Given the description of an element on the screen output the (x, y) to click on. 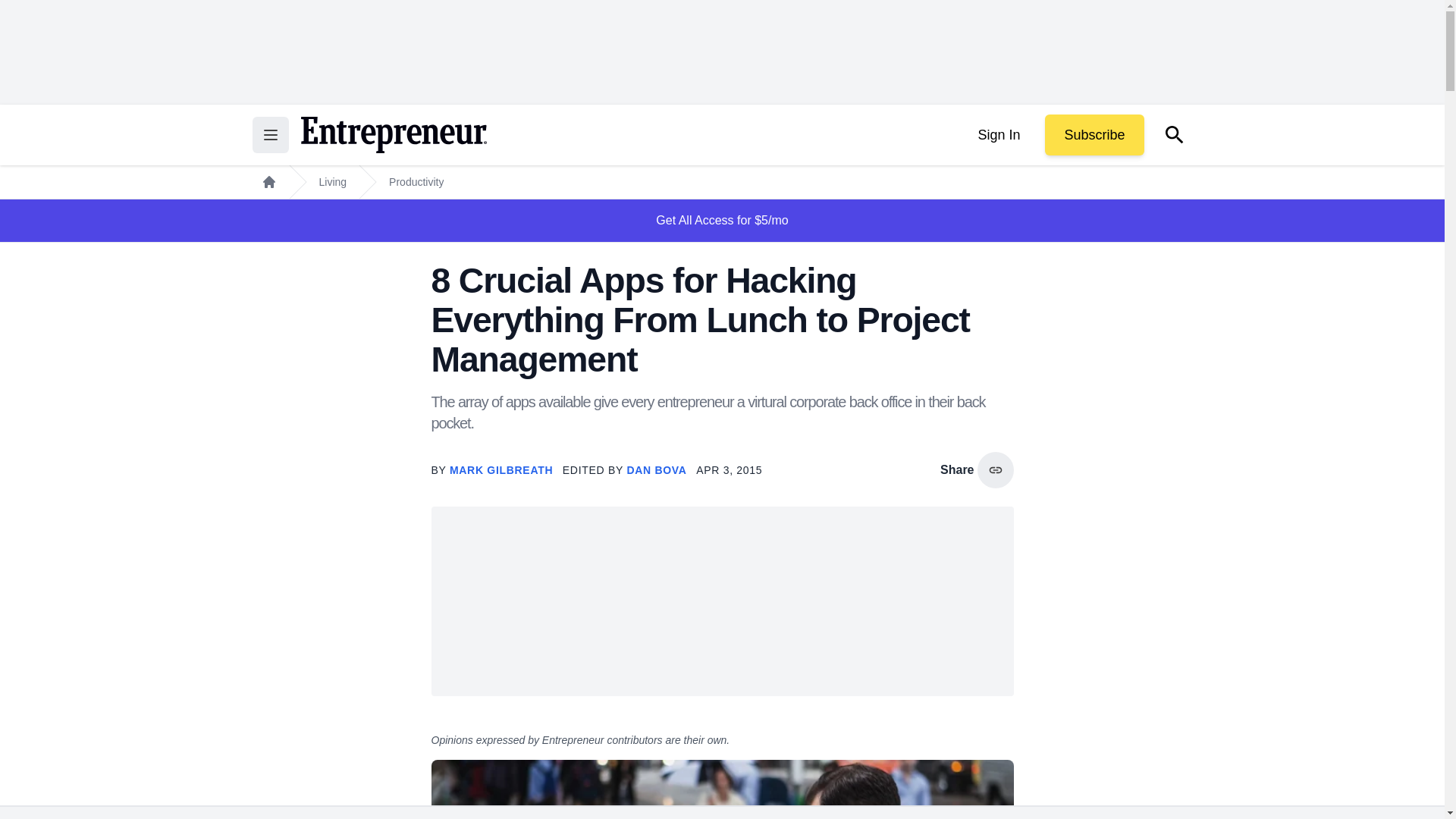
Return to the home page (392, 135)
copy (994, 470)
Sign In (998, 134)
Subscribe (1093, 134)
